Given the description of an element on the screen output the (x, y) to click on. 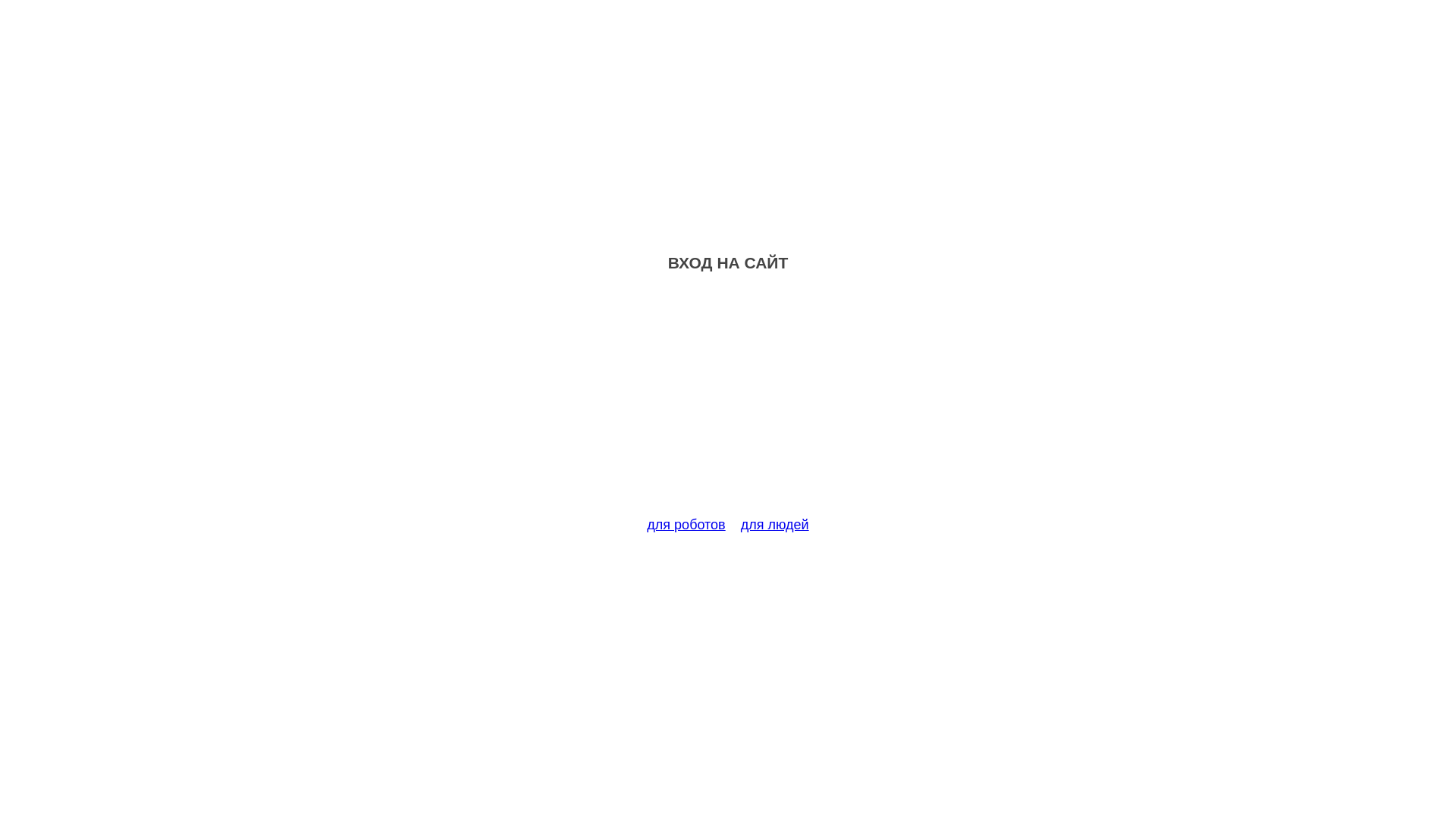
Advertisement Element type: hover (727, 403)
